Given the description of an element on the screen output the (x, y) to click on. 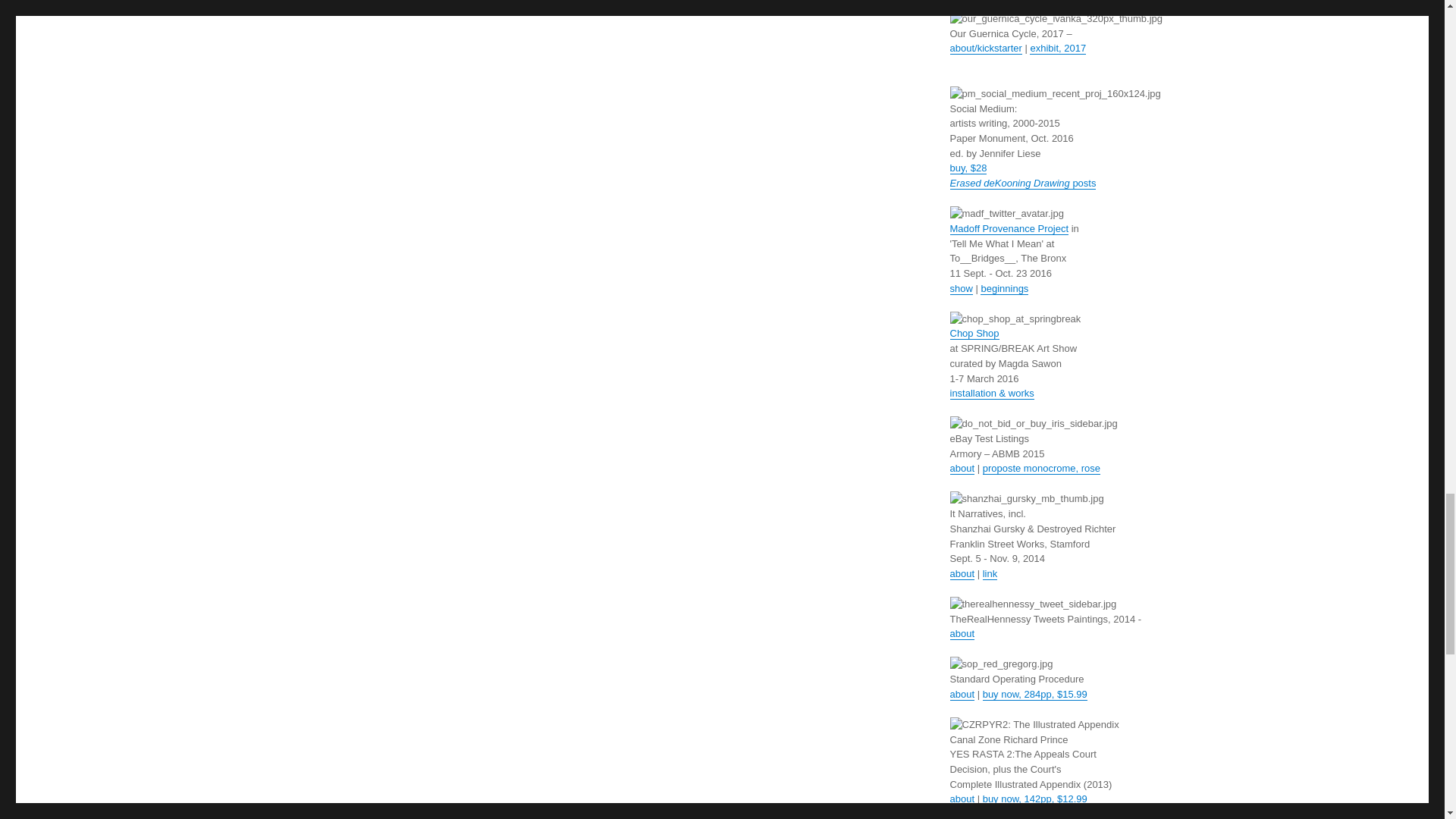
Erased deKooning Drawing posts (1022, 183)
Chop Shop (973, 333)
exhibit, 2017 (1057, 48)
show (960, 288)
beginnings (1003, 288)
Madoff Provenance Project (1008, 228)
